Given the description of an element on the screen output the (x, y) to click on. 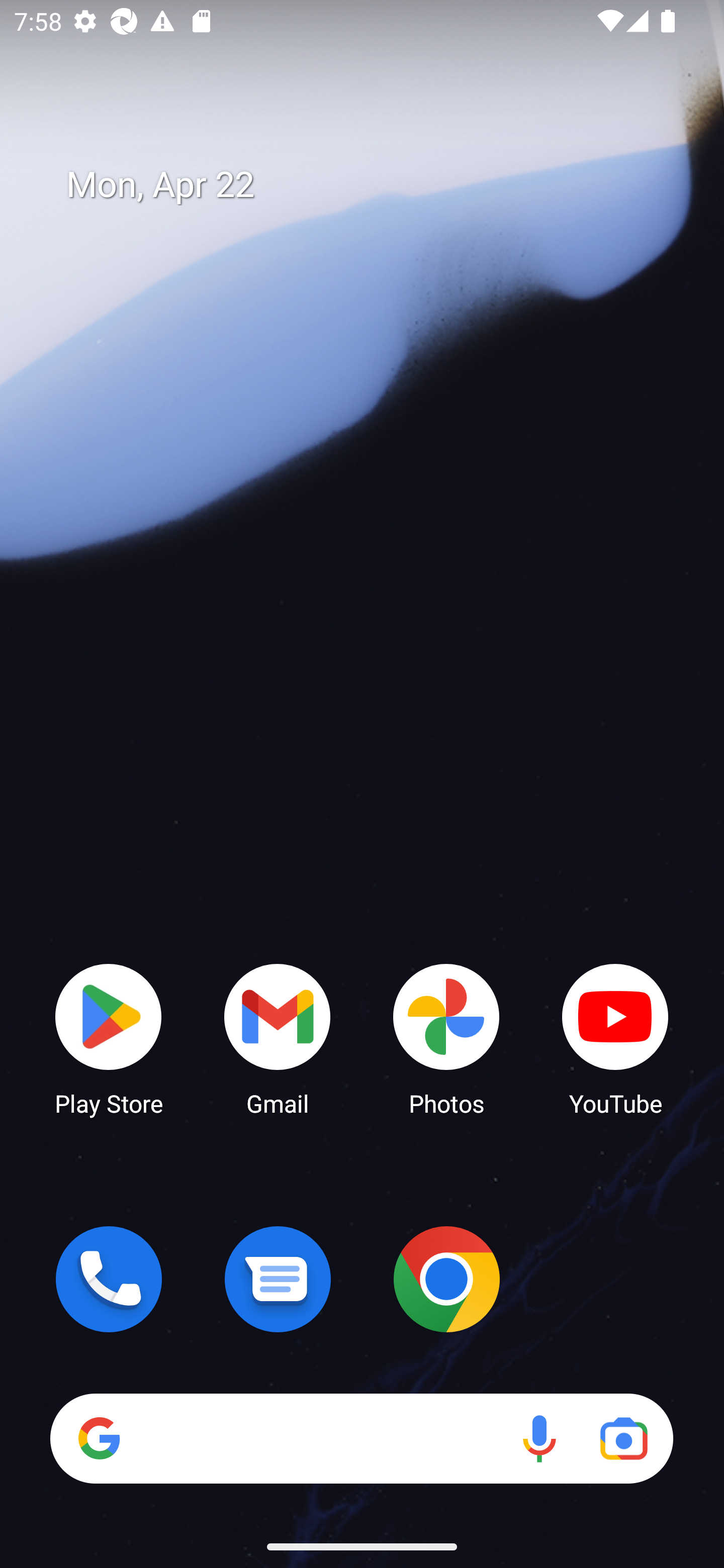
Mon, Apr 22 (375, 184)
Play Store (108, 1038)
Gmail (277, 1038)
Photos (445, 1038)
YouTube (615, 1038)
Phone (108, 1279)
Messages (277, 1279)
Chrome (446, 1279)
Search Voice search Google Lens (361, 1438)
Voice search (539, 1438)
Google Lens (623, 1438)
